Given the description of an element on the screen output the (x, y) to click on. 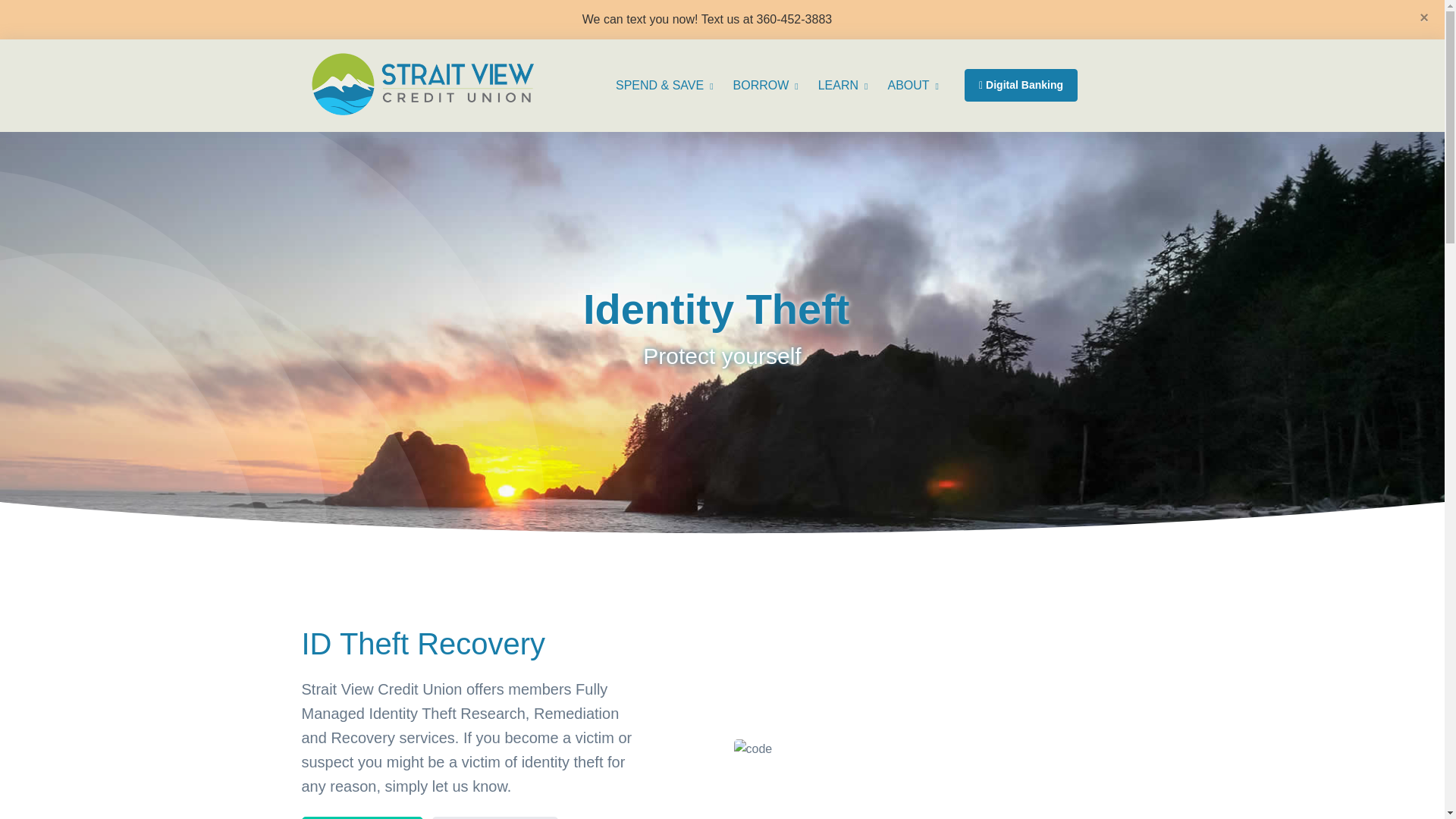
BORROW (769, 85)
Digital Banking (1020, 84)
Contact Us (362, 817)
